Given the description of an element on the screen output the (x, y) to click on. 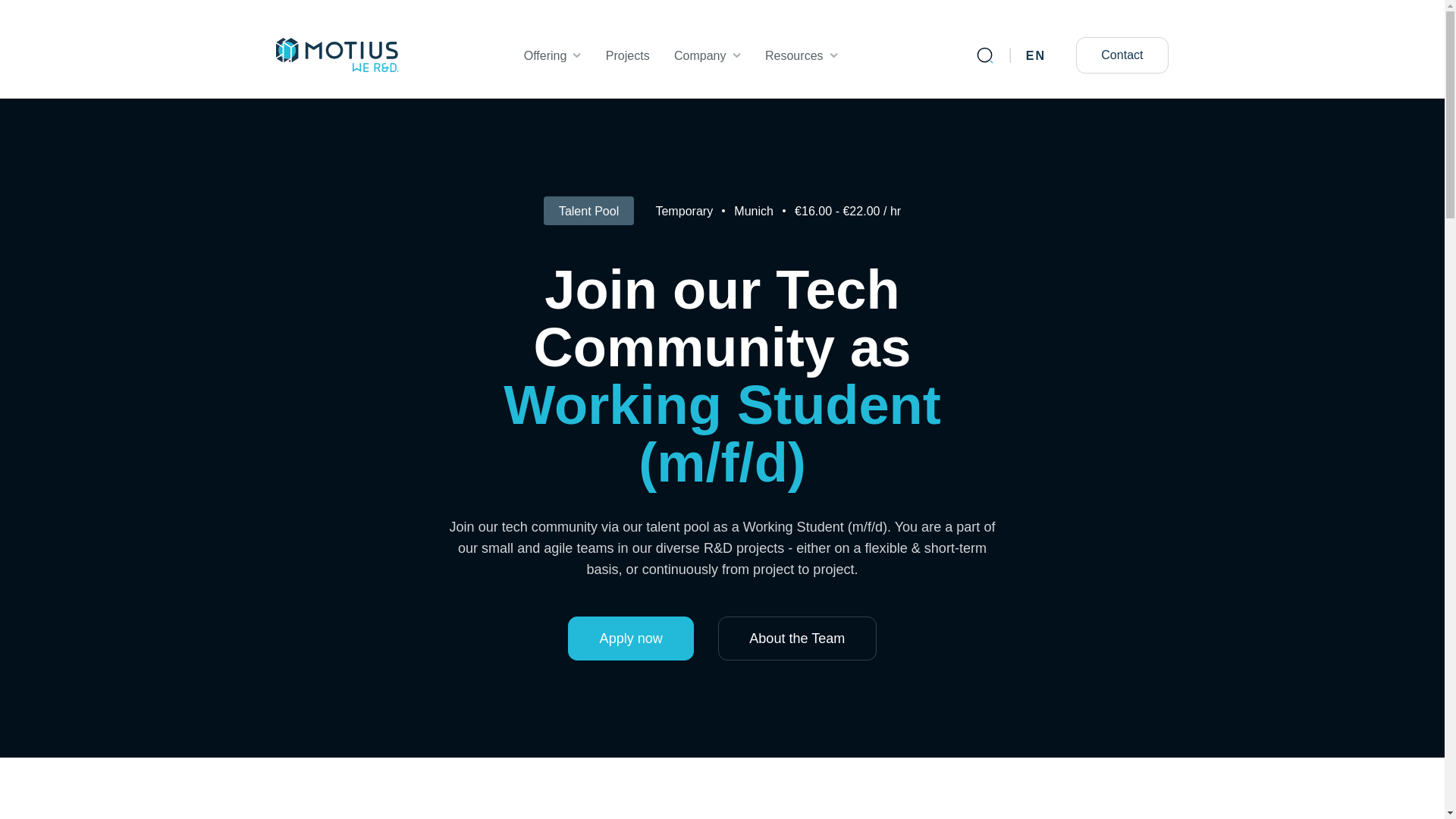
Contact (1122, 54)
Apply now (630, 638)
About the Team (796, 638)
Projects (1035, 55)
